Given the description of an element on the screen output the (x, y) to click on. 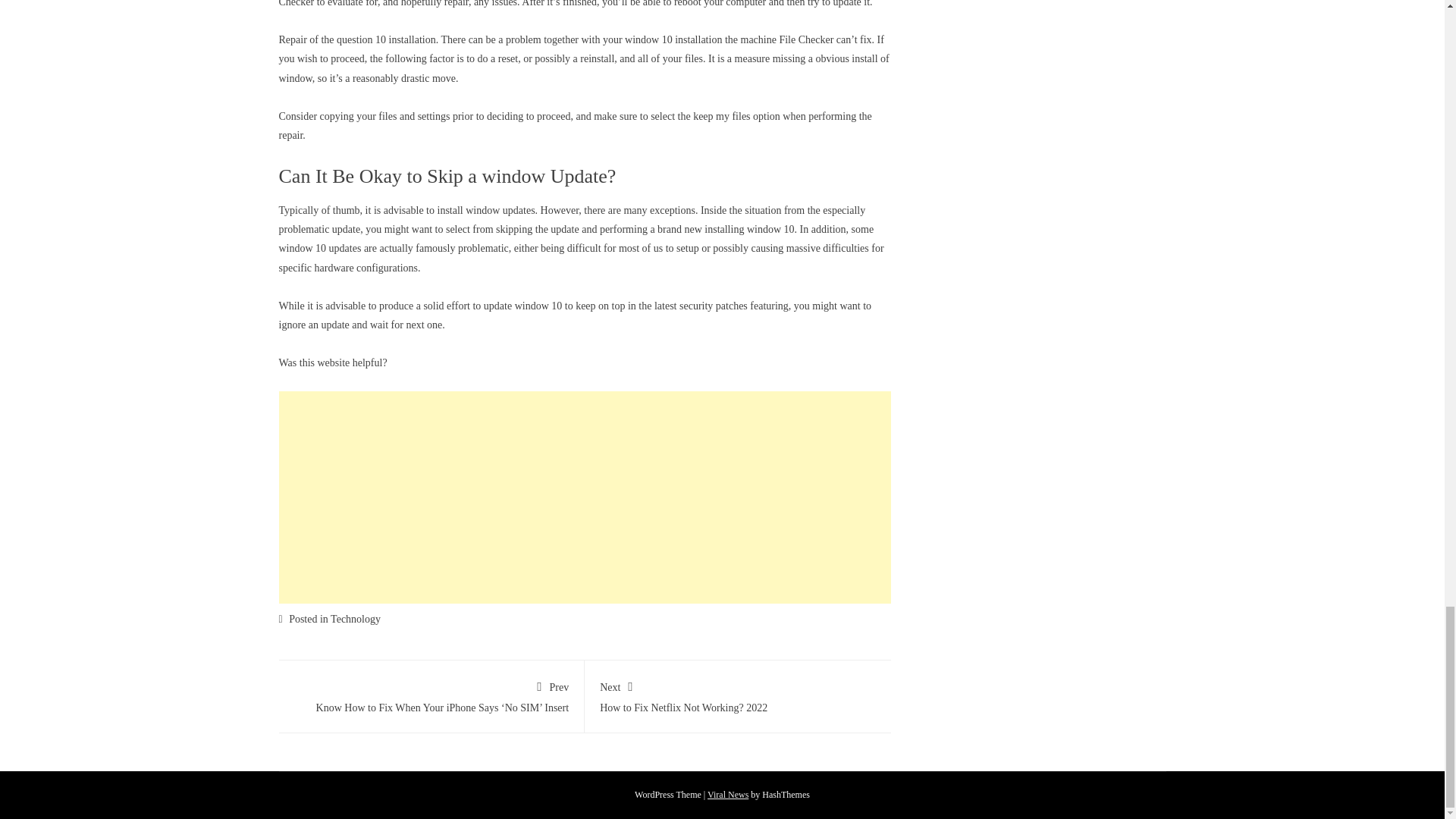
Technology (737, 694)
Download Viral News (355, 618)
Viral News (727, 794)
